Given the description of an element on the screen output the (x, y) to click on. 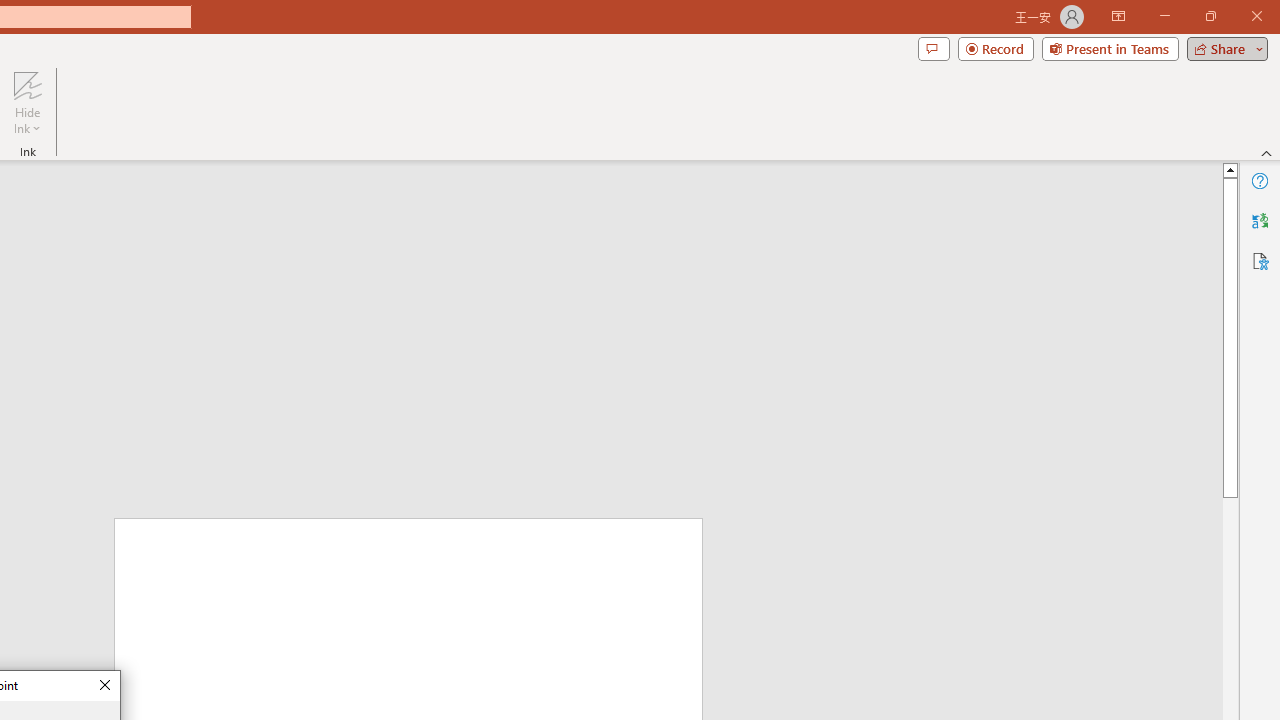
Hide Ink (27, 102)
Share (1223, 48)
Minimize (1164, 16)
Present in Teams (1109, 48)
Restore Down (1210, 16)
Comments (933, 48)
Translator (1260, 220)
Hide Ink (27, 84)
Accessibility (1260, 260)
Close (104, 686)
Collapse the Ribbon (1267, 152)
Line up (1230, 169)
